Given the description of an element on the screen output the (x, y) to click on. 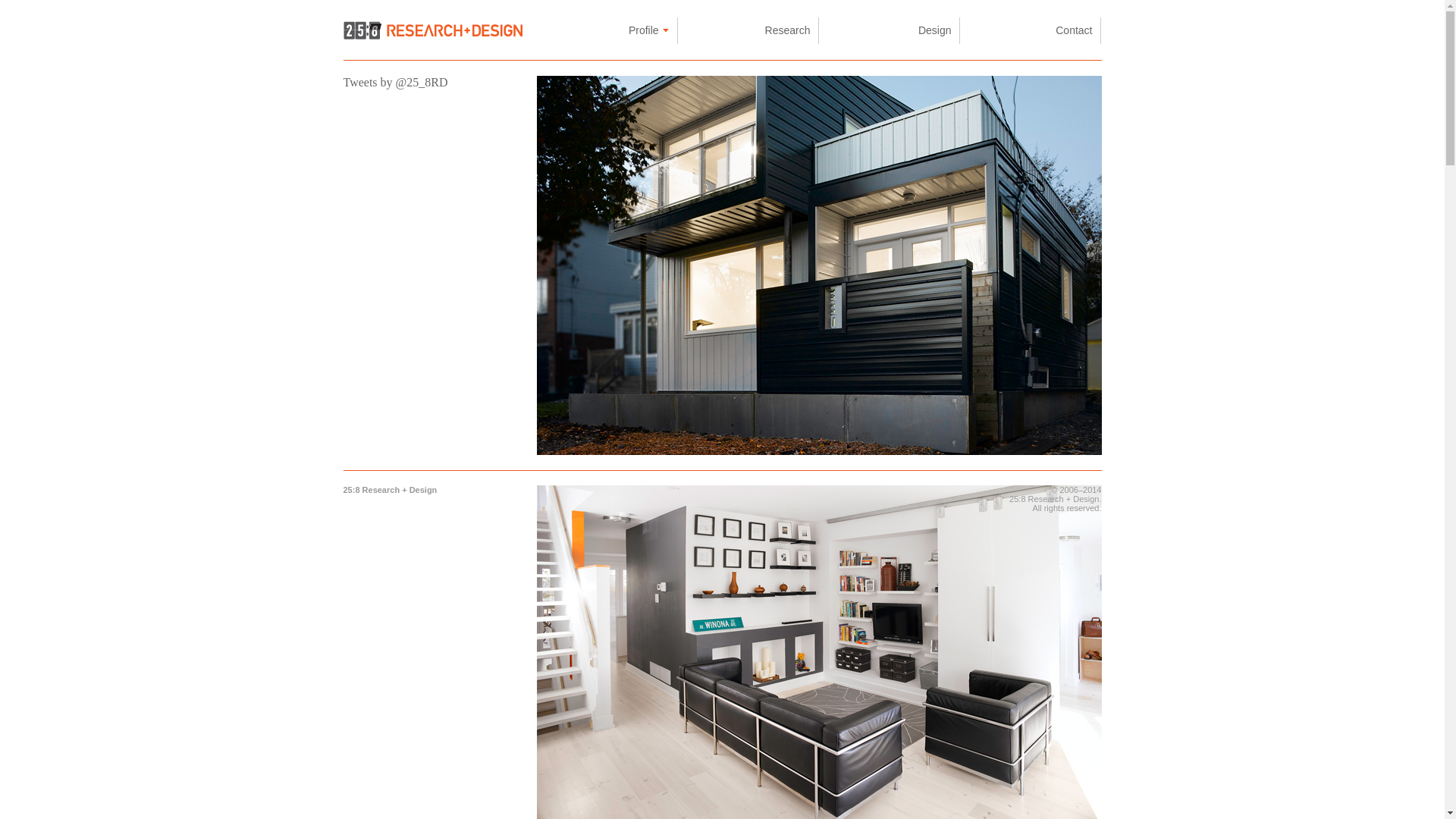
Profile Element type: text (606, 30)
Research Element type: text (748, 30)
Tweets by @25_8RD Element type: text (394, 81)
Contact Element type: text (1030, 30)
Design Element type: text (889, 30)
